Given the description of an element on the screen output the (x, y) to click on. 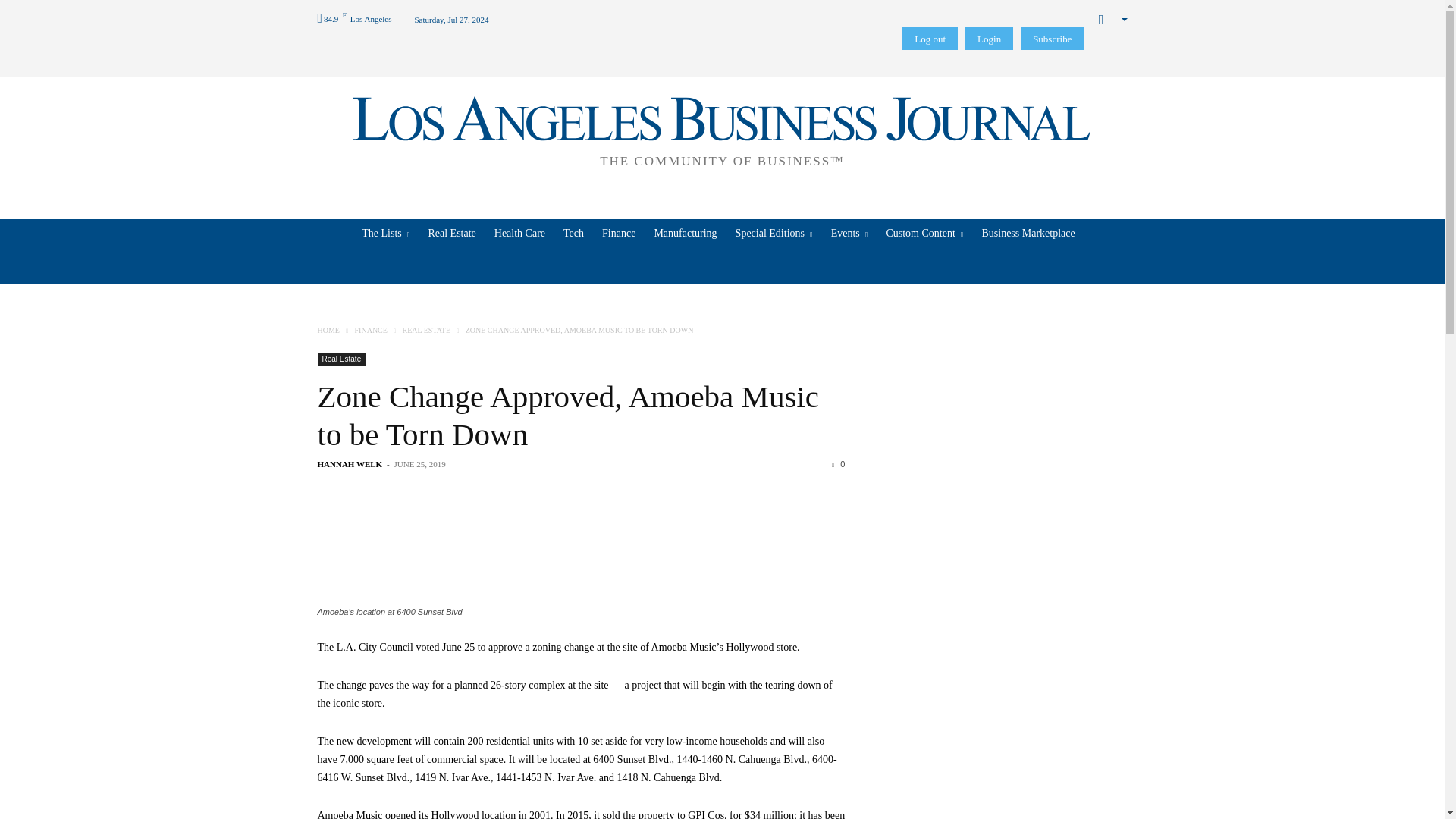
Log out (930, 37)
